Given the description of an element on the screen output the (x, y) to click on. 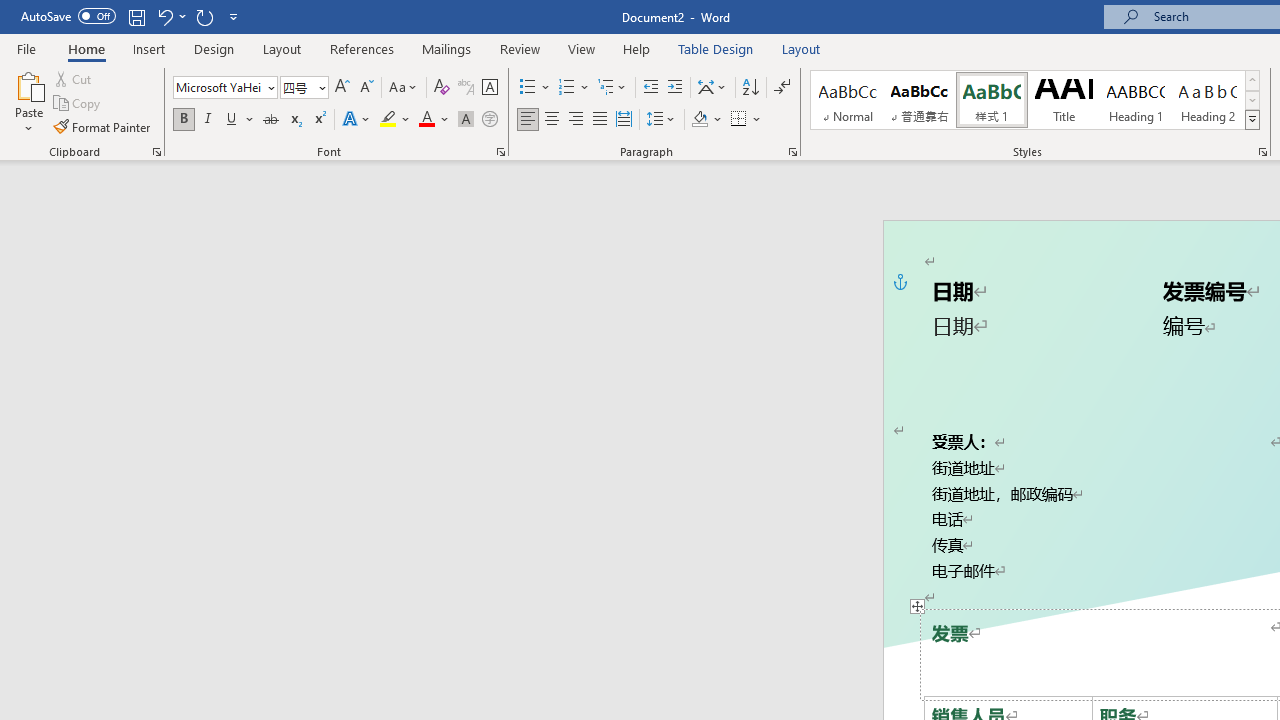
Font Color RGB(255, 0, 0) (426, 119)
